Given the description of an element on the screen output the (x, y) to click on. 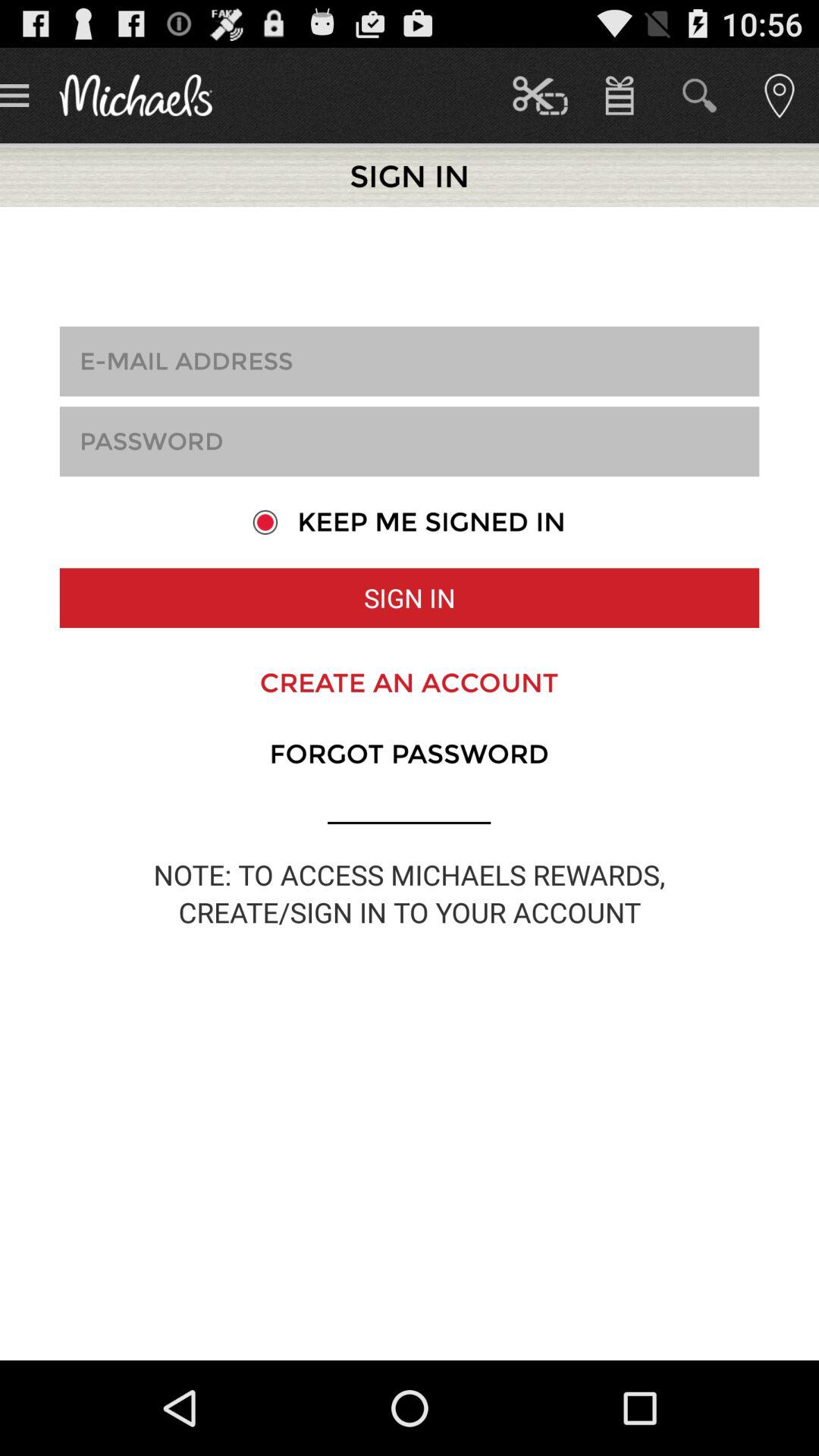
text box for password (409, 441)
